Given the description of an element on the screen output the (x, y) to click on. 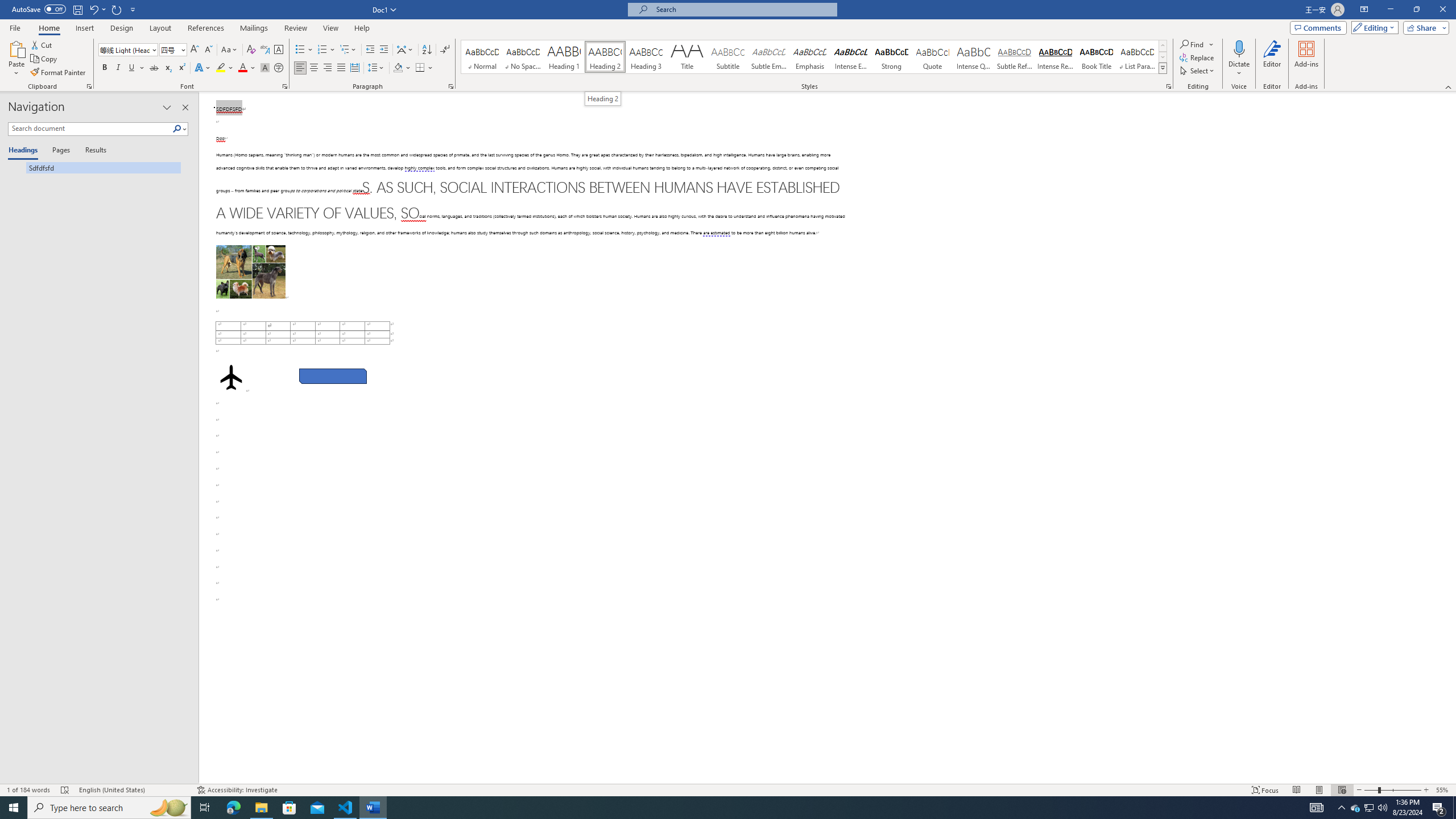
Morphological variation in six dogs (250, 271)
Format Painter (58, 72)
Align Right (327, 67)
Sort... (426, 49)
Text Effects and Typography (202, 67)
Class: NetUIScrollBar (1450, 437)
Title (686, 56)
Heading 2 (603, 98)
